Given the description of an element on the screen output the (x, y) to click on. 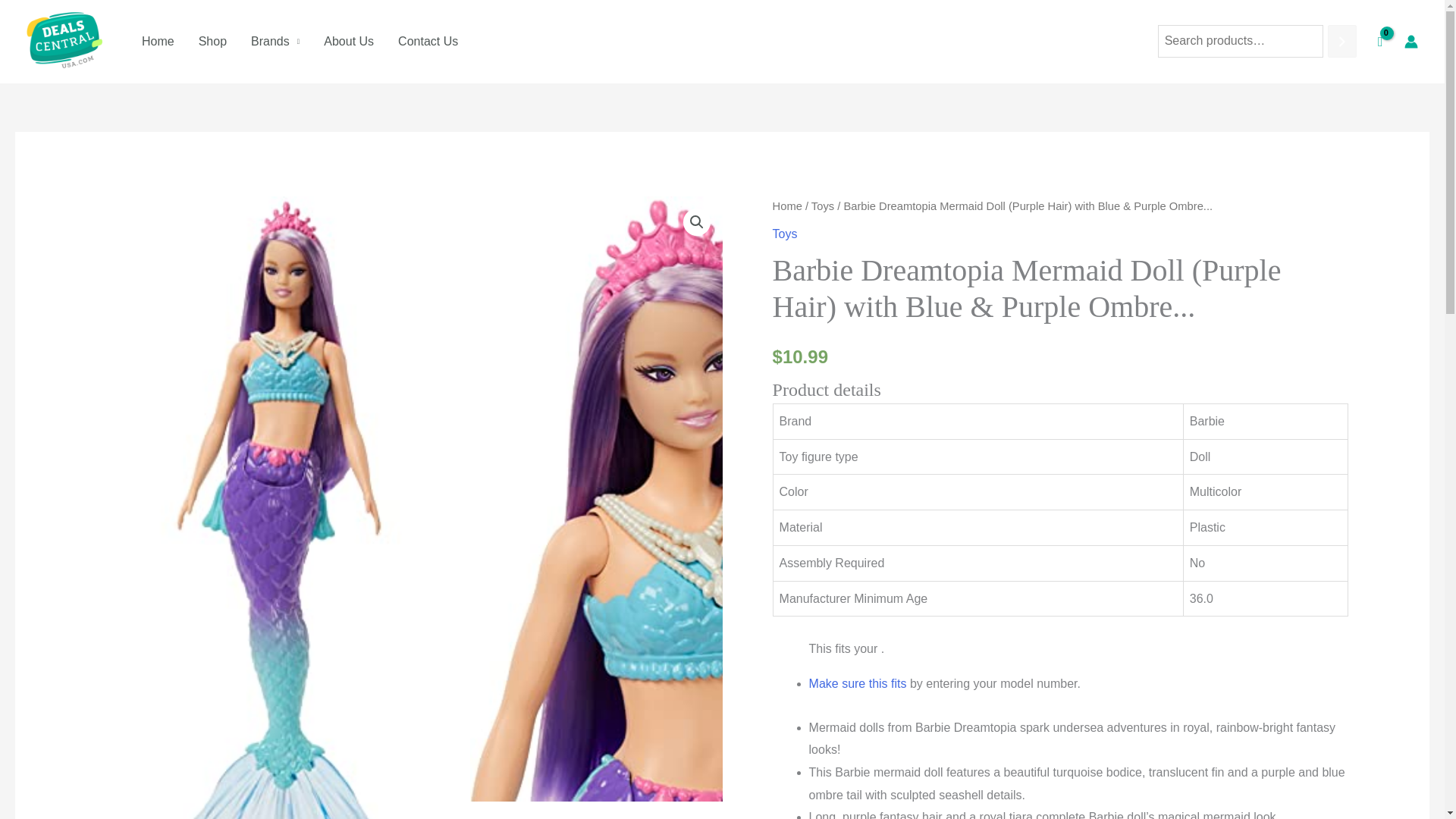
About Us (348, 41)
Contact Us (427, 41)
Brands (274, 41)
